Given the description of an element on the screen output the (x, y) to click on. 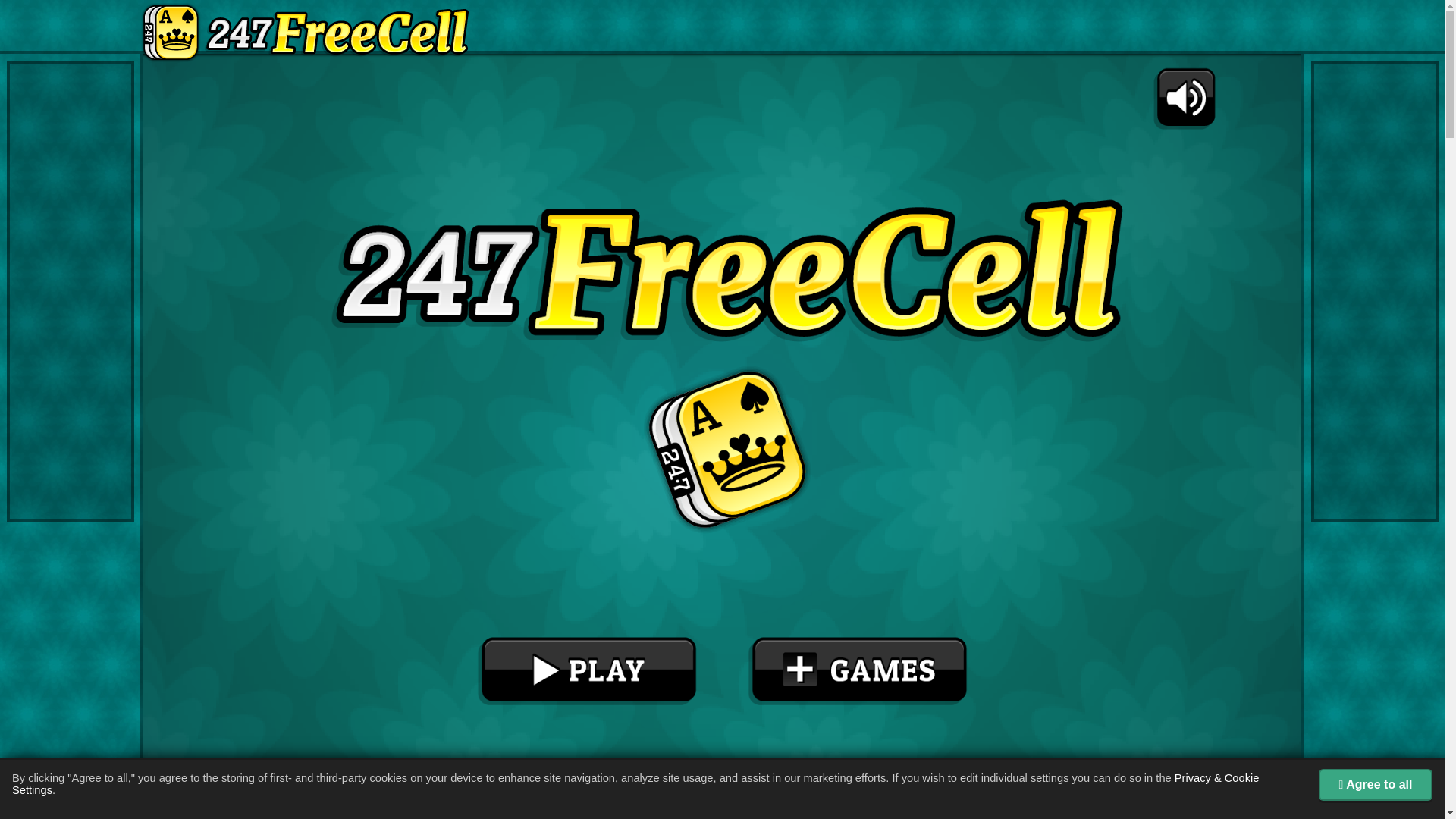
Privacy & Cookie Settings Element type: text (635, 783)
game Element type: hover (722, 430)
